Given the description of an element on the screen output the (x, y) to click on. 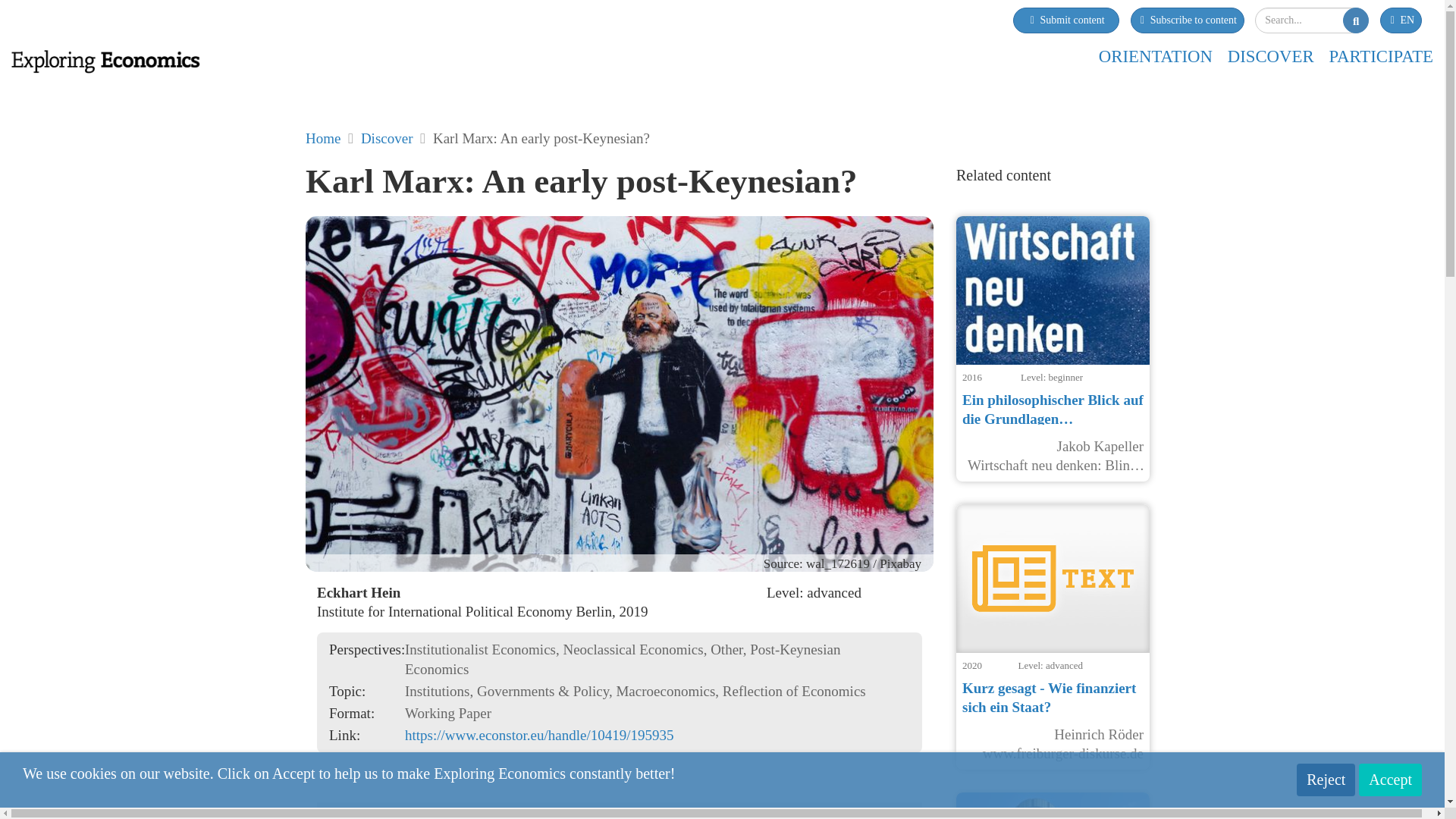
EN (1401, 20)
Select language (1401, 20)
Subscribe to content (1186, 20)
Submit content (1066, 20)
Submit content (1066, 20)
Home (322, 138)
PARTICIPATE (1379, 56)
ORIENTATION (1155, 56)
Subscribe to content (1186, 20)
Discover (387, 138)
DISCOVER (1270, 56)
